Given the description of an element on the screen output the (x, y) to click on. 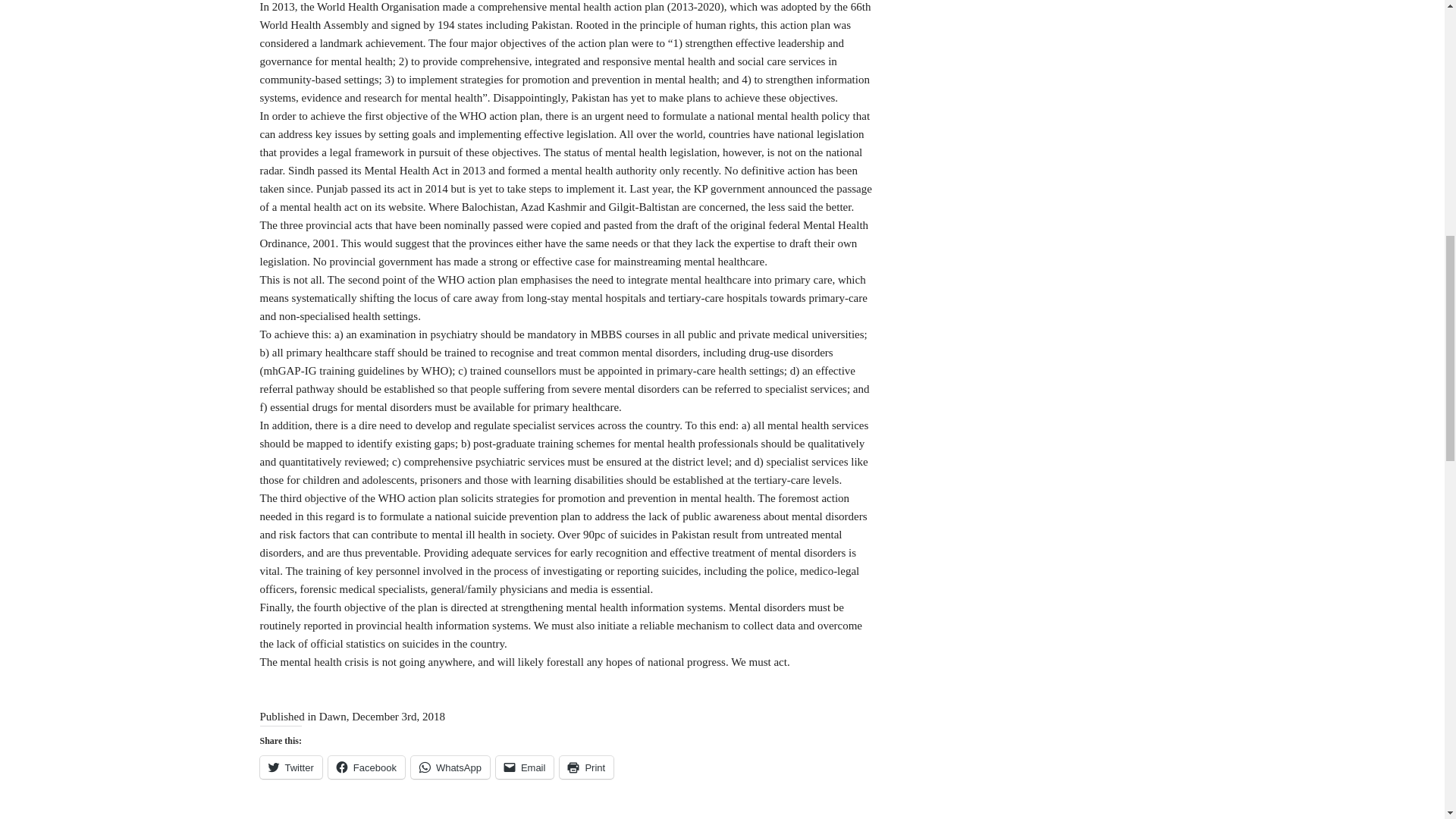
Print (585, 766)
Click to email a link to a friend (525, 766)
Click to share on WhatsApp (449, 766)
Click to share on Facebook (366, 766)
Click to share on Twitter (290, 766)
WhatsApp (449, 766)
Click to print (585, 766)
Twitter (290, 766)
Facebook (366, 766)
Email (525, 766)
